Given the description of an element on the screen output the (x, y) to click on. 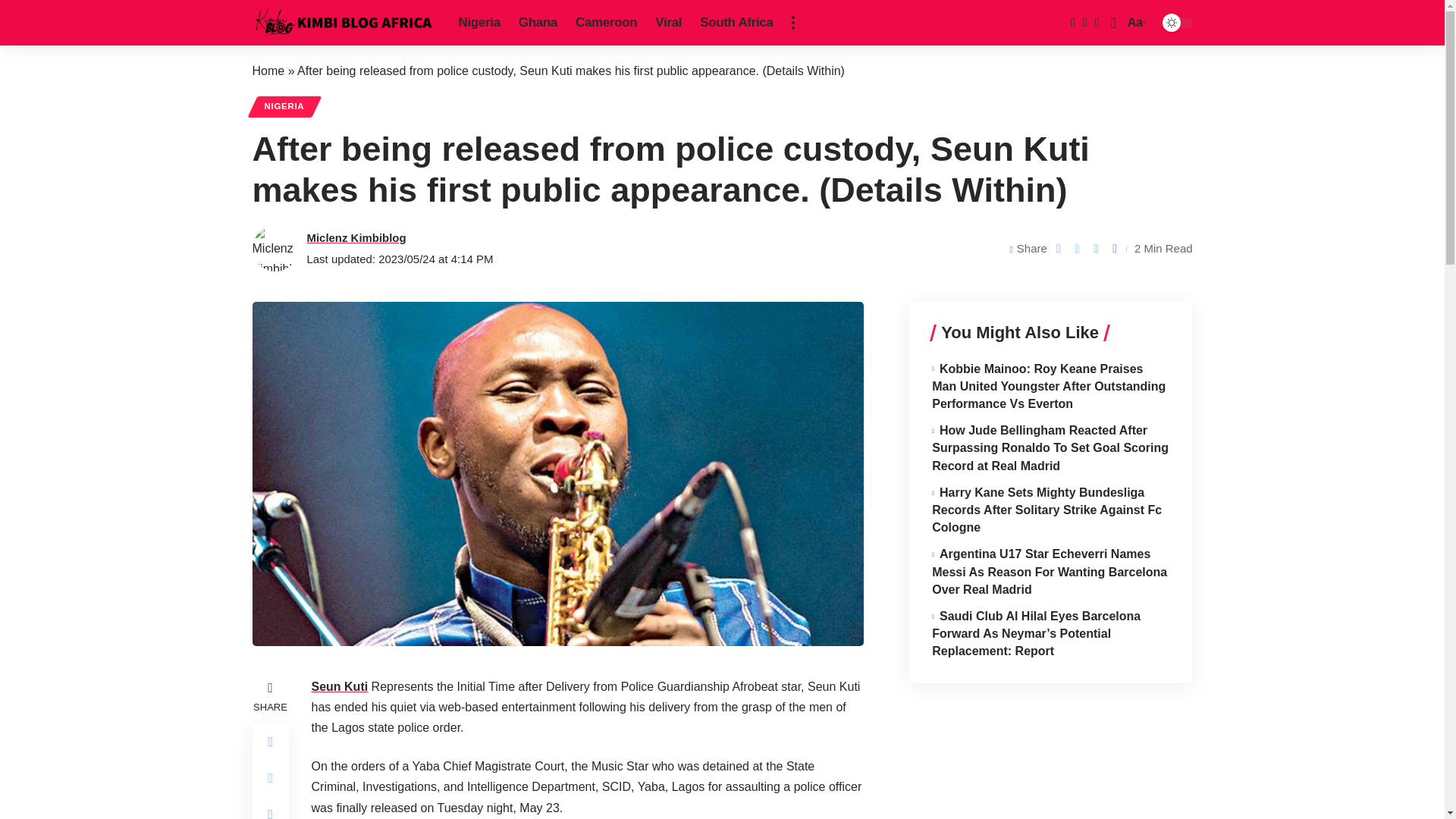
Aa (1135, 22)
Nigeria (478, 22)
South Africa (735, 22)
Kimbi Blog Africa - Latest African Entertainment News (342, 22)
Home (267, 70)
NIGERIA (283, 106)
Ghana (537, 22)
Cameroon (606, 22)
Viral (668, 22)
Miclenz Kimbiblog (355, 237)
